Given the description of an element on the screen output the (x, y) to click on. 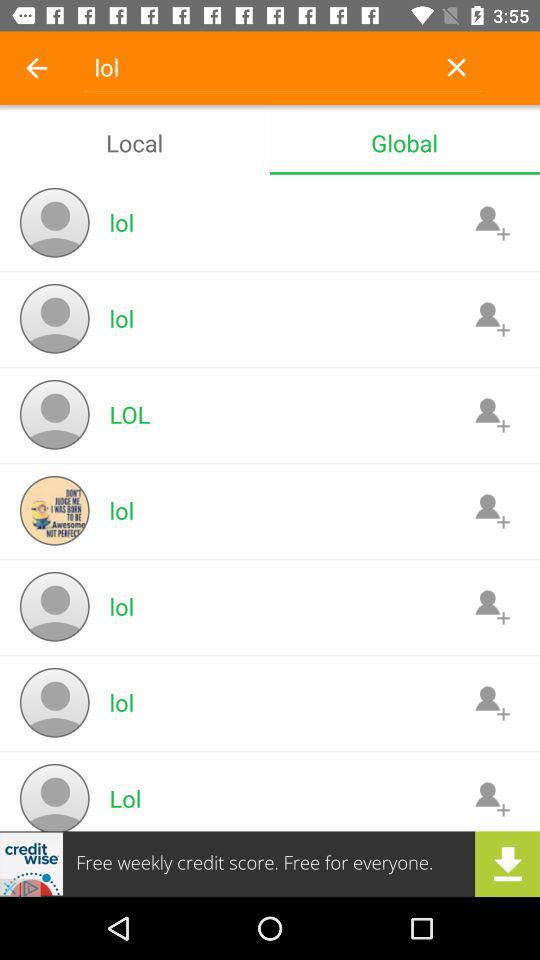
add contact (492, 510)
